Given the description of an element on the screen output the (x, y) to click on. 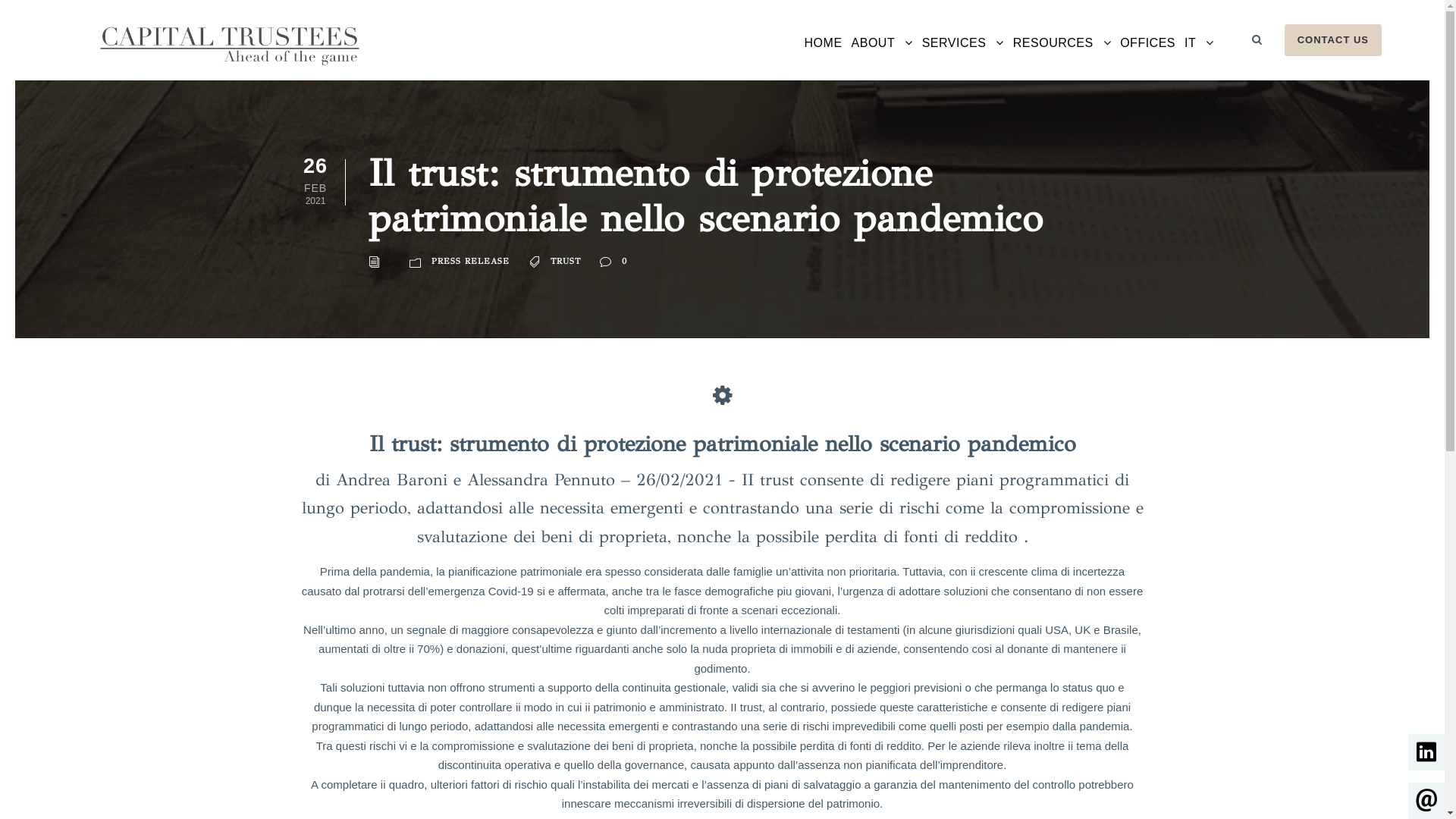
TRUST Element type: text (565, 261)
RESOURCES Element type: text (1061, 55)
OFFICES Element type: text (1147, 55)
IT Element type: text (1199, 55)
SERVICES Element type: text (963, 55)
ABOUT Element type: text (882, 55)
PRESS RELEASE Element type: text (469, 261)
HOME Element type: text (823, 55)
CONTACT US Element type: text (1332, 40)
